Given the description of an element on the screen output the (x, y) to click on. 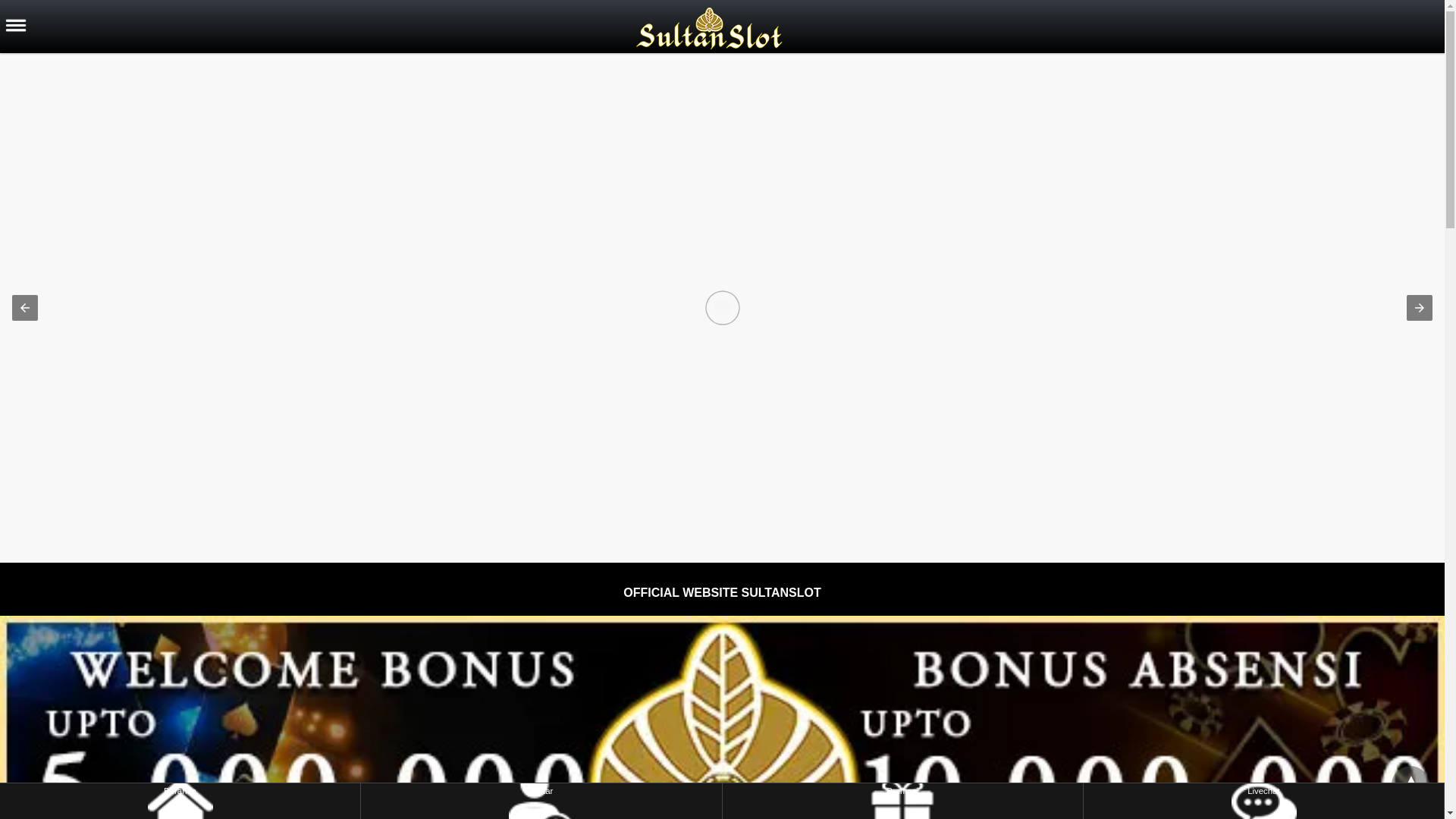
MASUK (30, 221)
Live Chat (97, 185)
Livechat (1263, 800)
Beranda (179, 800)
Promosi (97, 100)
SULTANSLOT (111, 250)
Daftar (540, 800)
back to top (1410, 784)
DAFTAR (98, 221)
Hubungi Kami (97, 141)
